Given the description of an element on the screen output the (x, y) to click on. 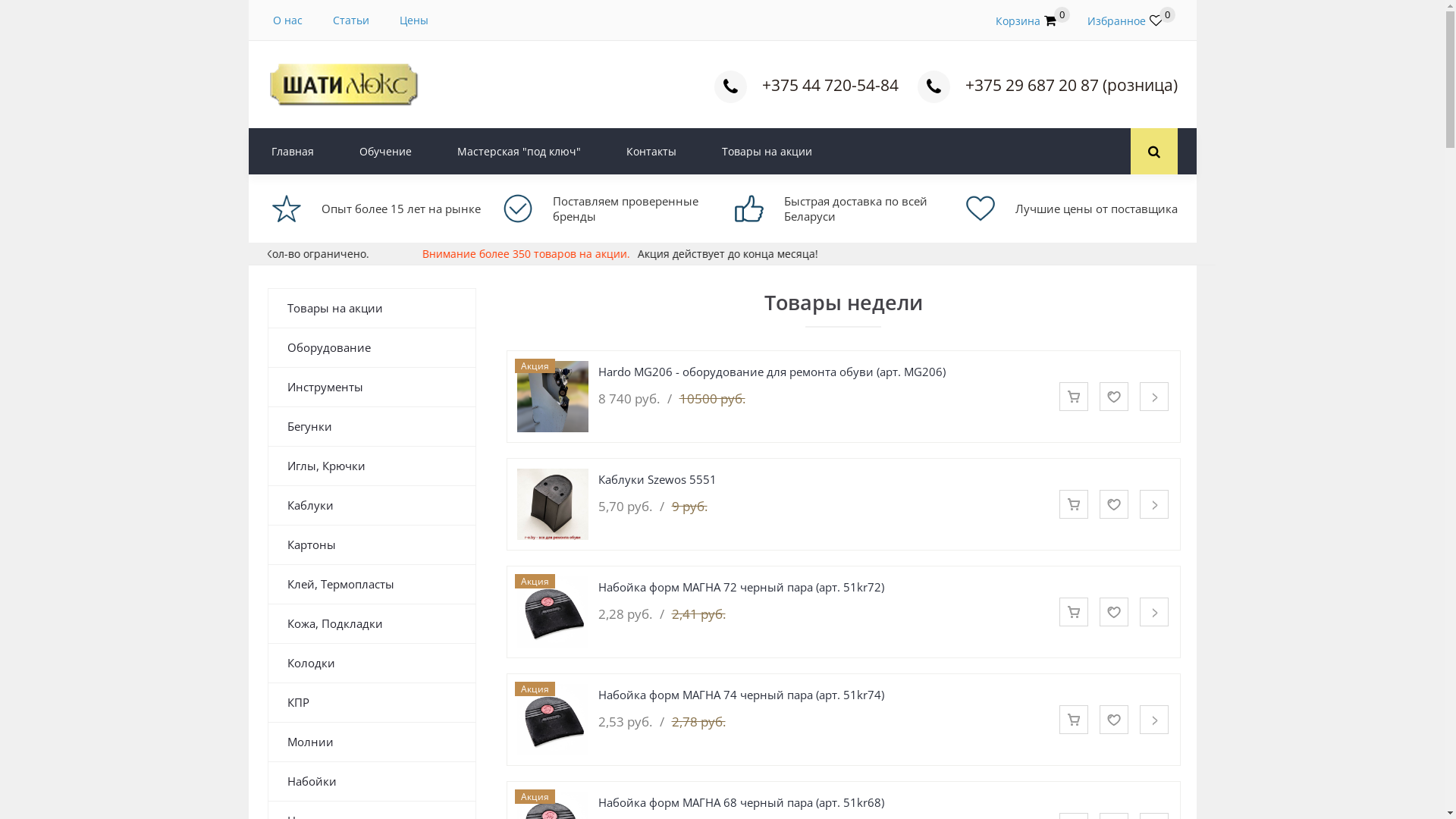
+375 44 720-54-84 Element type: text (829, 84)
